Given the description of an element on the screen output the (x, y) to click on. 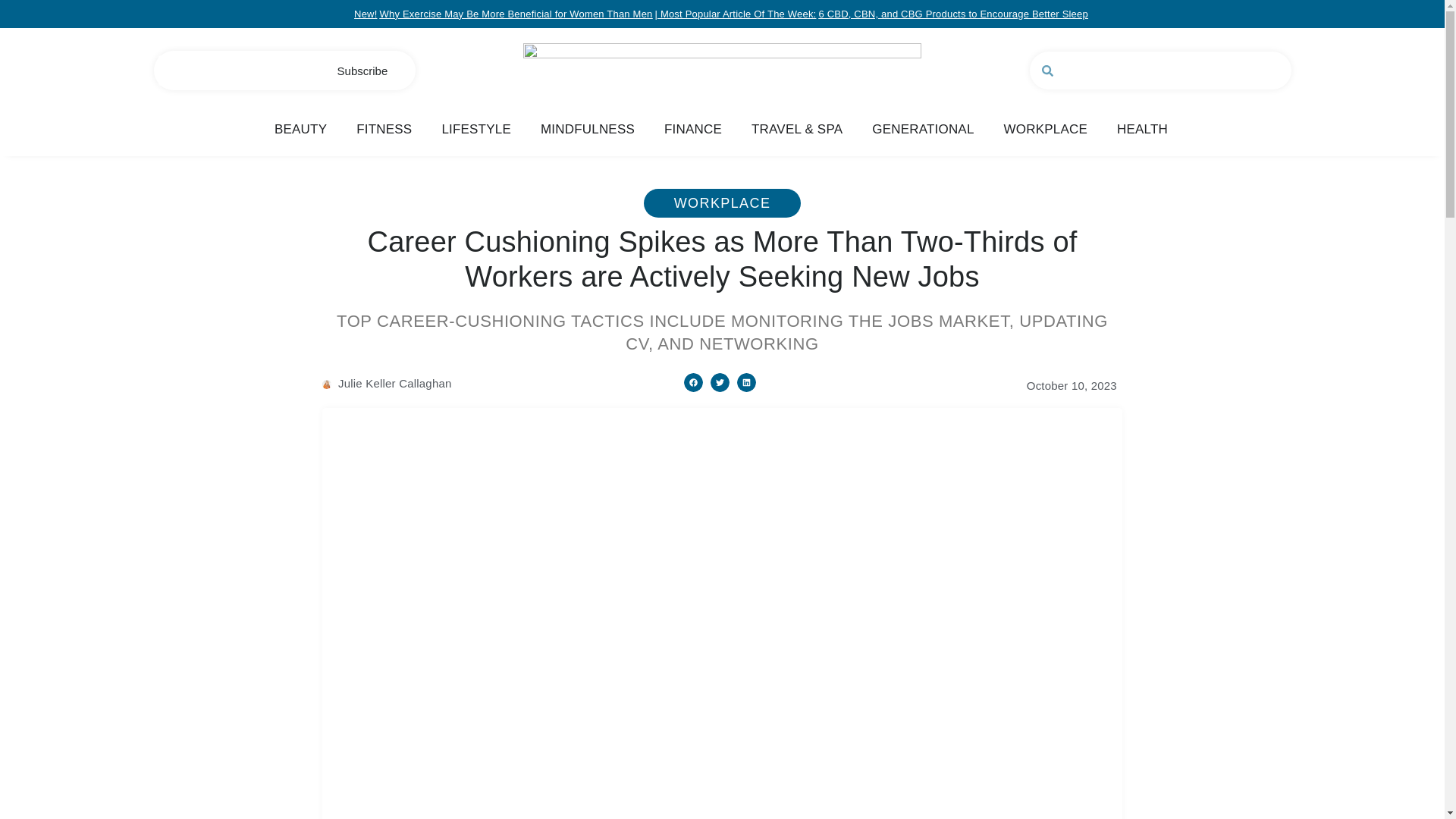
6 CBD, CBN, and CBG Products to Encourage Better Sleep (952, 13)
Why Exercise May Be More Beneficial for Women Than Men (515, 13)
FITNESS (384, 129)
MINDFULNESS (587, 129)
BEAUTY (300, 129)
Subscribe (362, 70)
LIFESTYLE (476, 129)
